Given the description of an element on the screen output the (x, y) to click on. 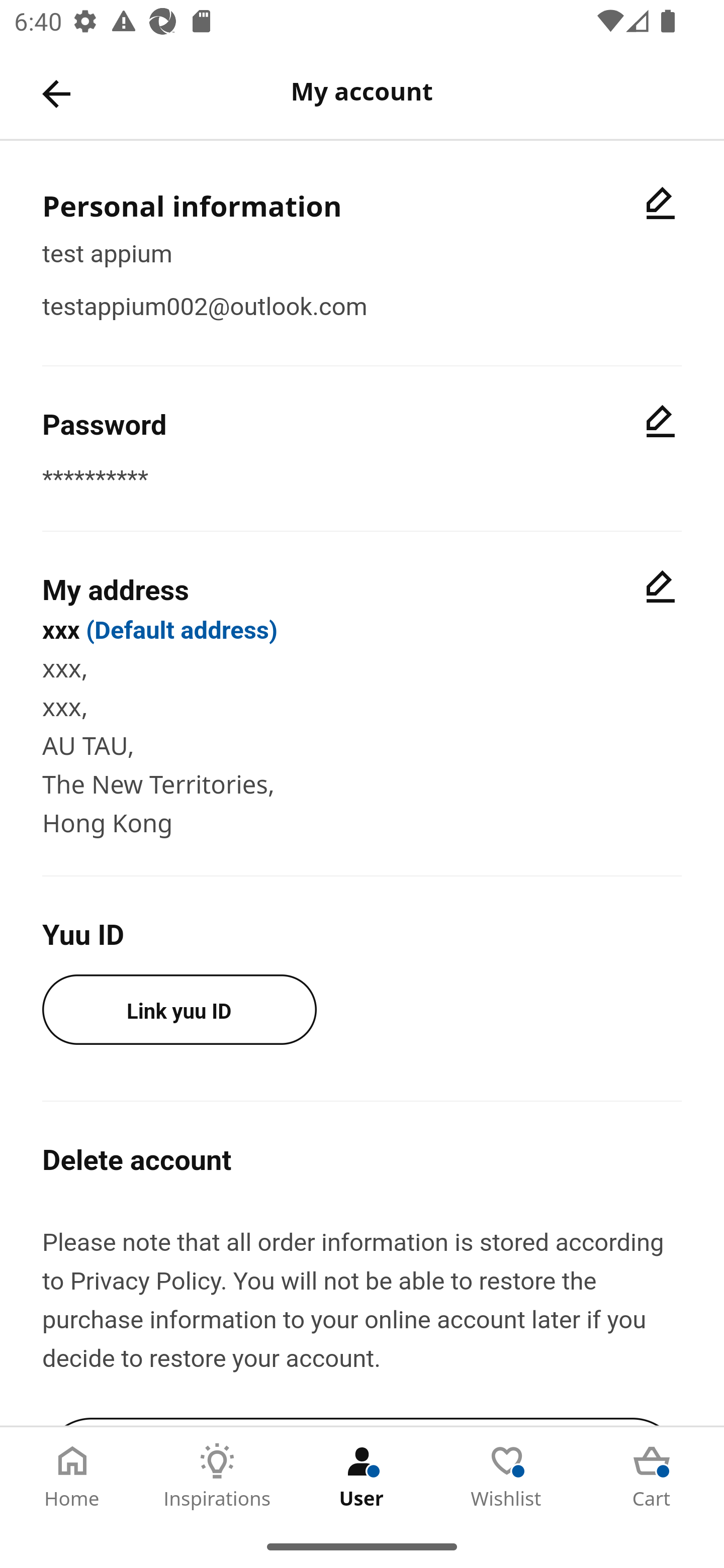
Link yuu ID (179, 1008)
Home
Tab 1 of 5 (72, 1476)
Inspirations
Tab 2 of 5 (216, 1476)
User
Tab 3 of 5 (361, 1476)
Wishlist
Tab 4 of 5 (506, 1476)
Cart
Tab 5 of 5 (651, 1476)
